Given the description of an element on the screen output the (x, y) to click on. 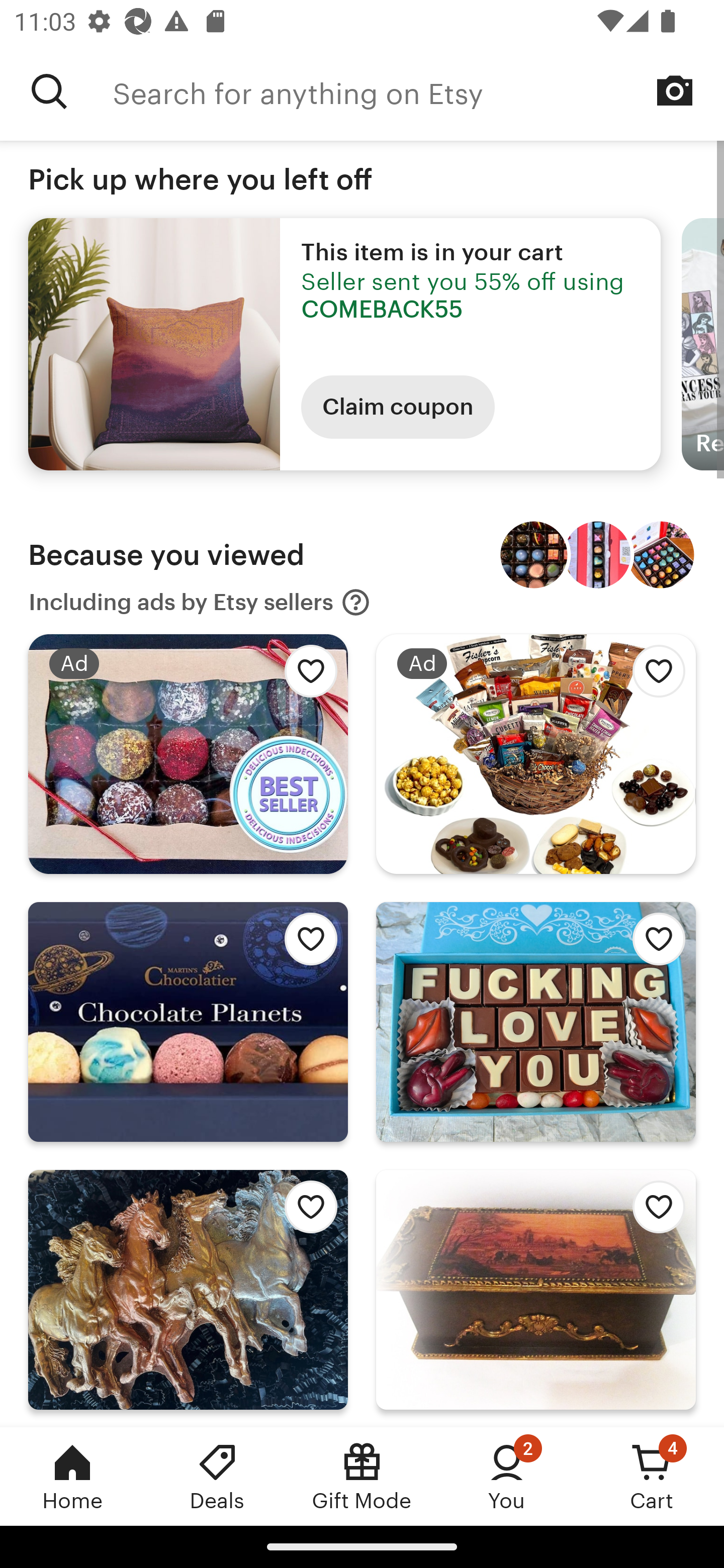
Search for anything on Etsy (49, 91)
Search by image (674, 90)
Search for anything on Etsy (418, 91)
Claim coupon (397, 407)
Including ads by Etsy sellers (199, 601)
Deals (216, 1475)
Gift Mode (361, 1475)
You, 2 new notifications You (506, 1475)
Cart, 4 new notifications Cart (651, 1475)
